Given the description of an element on the screen output the (x, y) to click on. 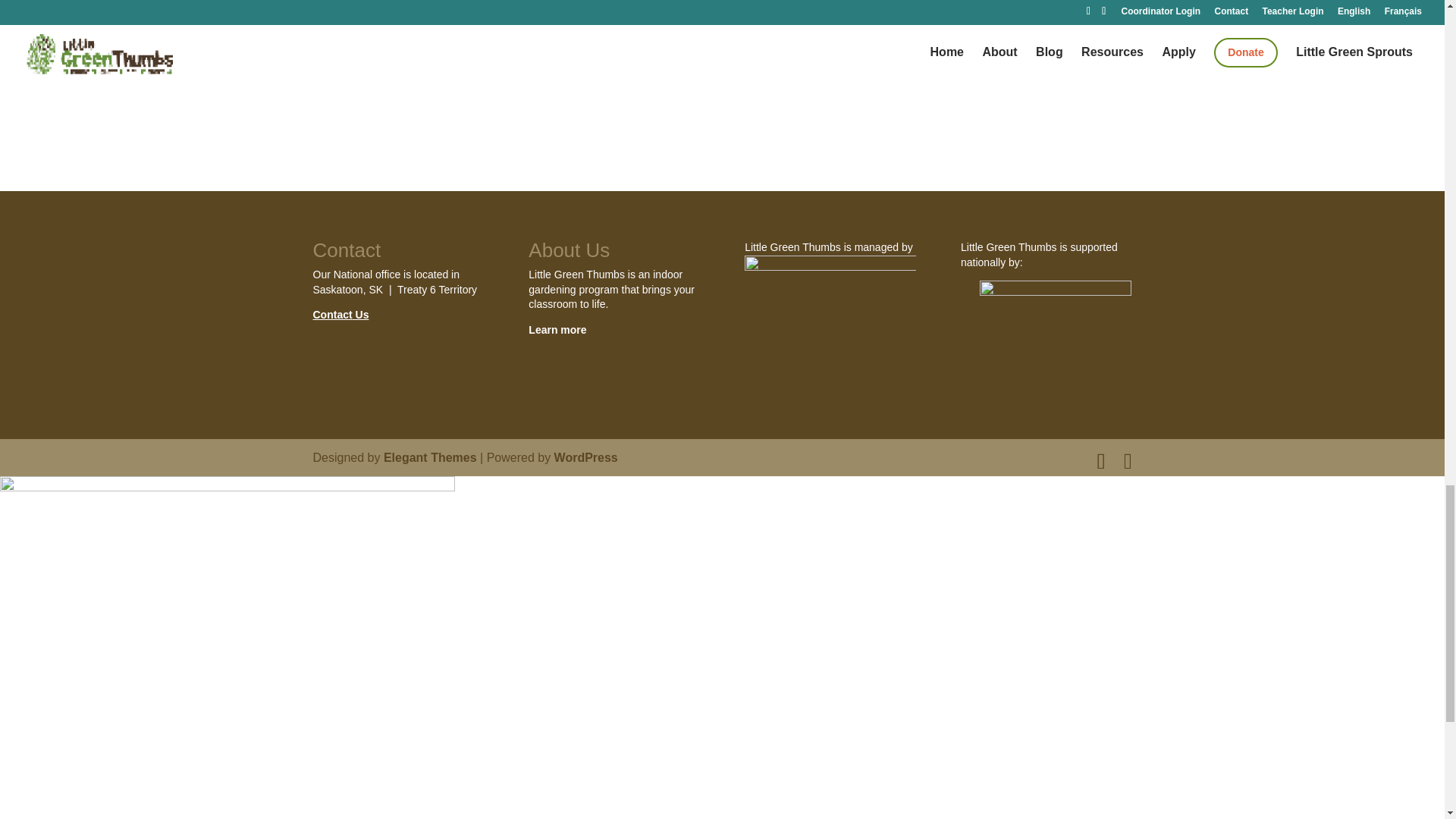
Learn more (557, 329)
Contact (332, 314)
Elegant Themes (430, 456)
Premium WordPress Themes (430, 456)
WordPress (585, 456)
Us (360, 314)
Download Instructions for Teacher Access (952, 37)
